Given the description of an element on the screen output the (x, y) to click on. 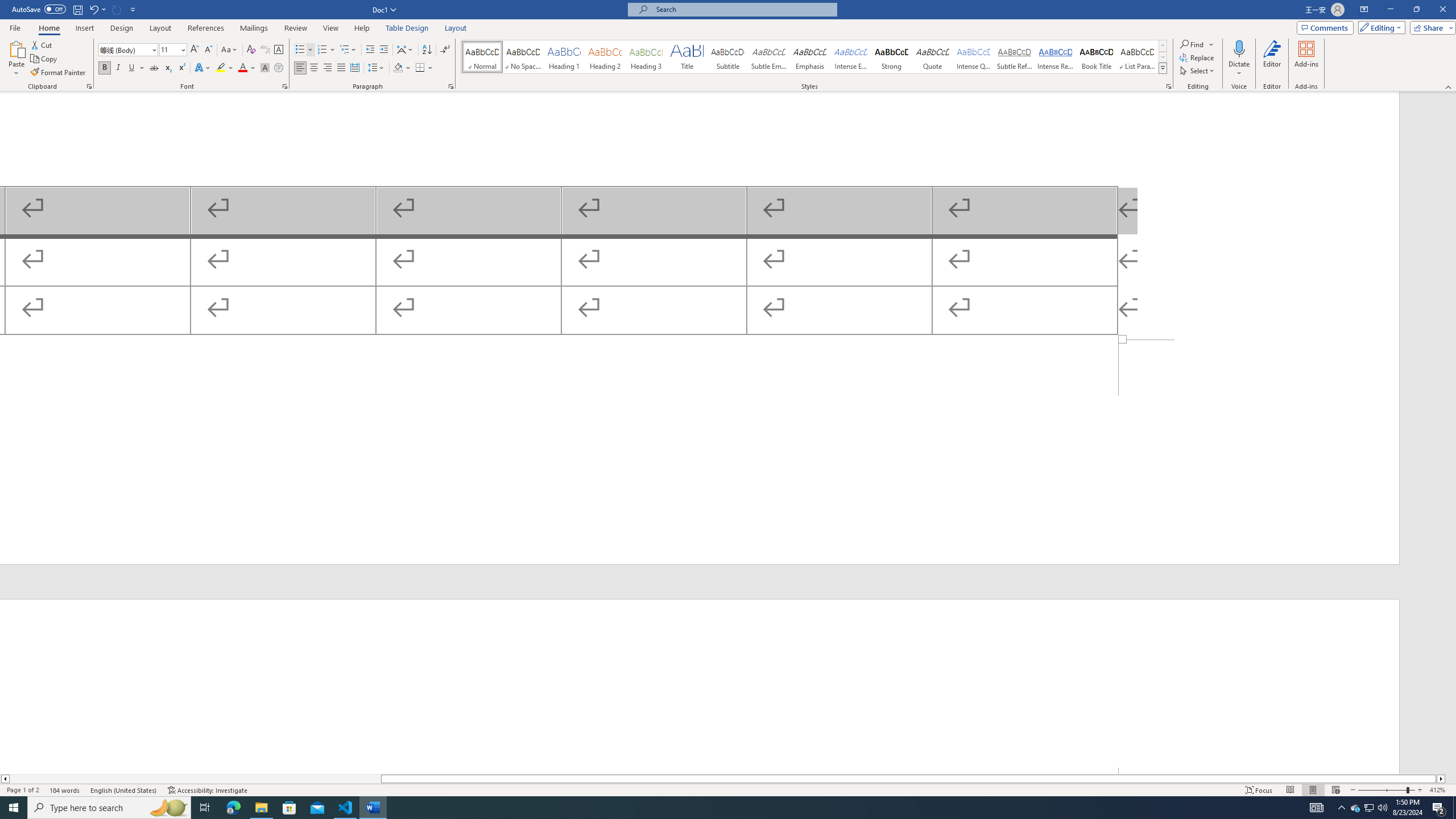
Page left (195, 778)
Page Number Page 1 of 2 (22, 790)
Undo Outline Move Up (92, 9)
Column right (1441, 778)
